Given the description of an element on the screen output the (x, y) to click on. 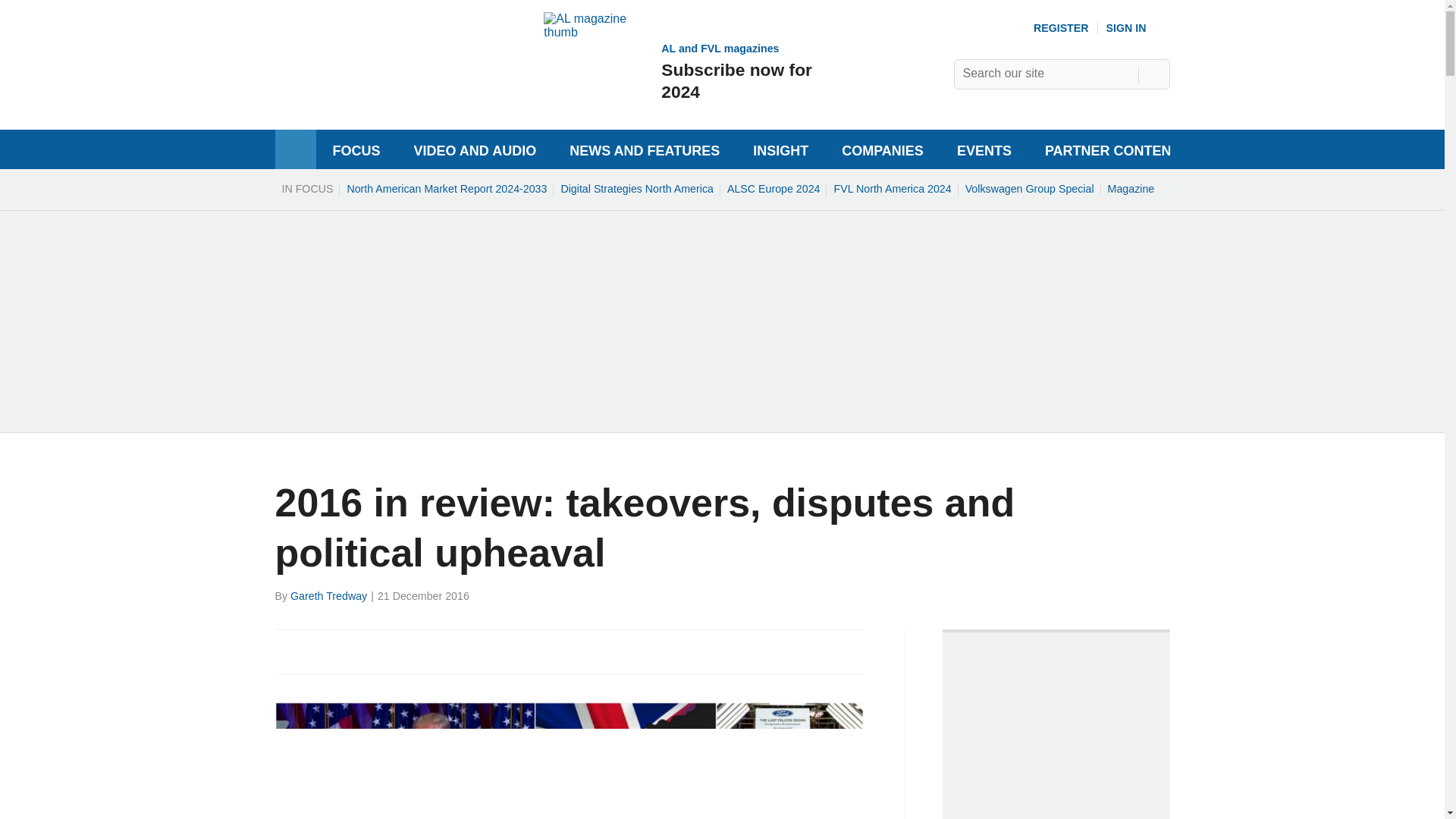
ALSC Europe 2024 (679, 70)
Share this on Linked in (773, 188)
Automotive Logistics (352, 651)
Volkswagen Group Special (375, 94)
Magazine (1029, 188)
SEARCH (1130, 188)
Email this article (1153, 74)
Share this on Twitter (386, 651)
Digital Strategies North America (320, 651)
